Given the description of an element on the screen output the (x, y) to click on. 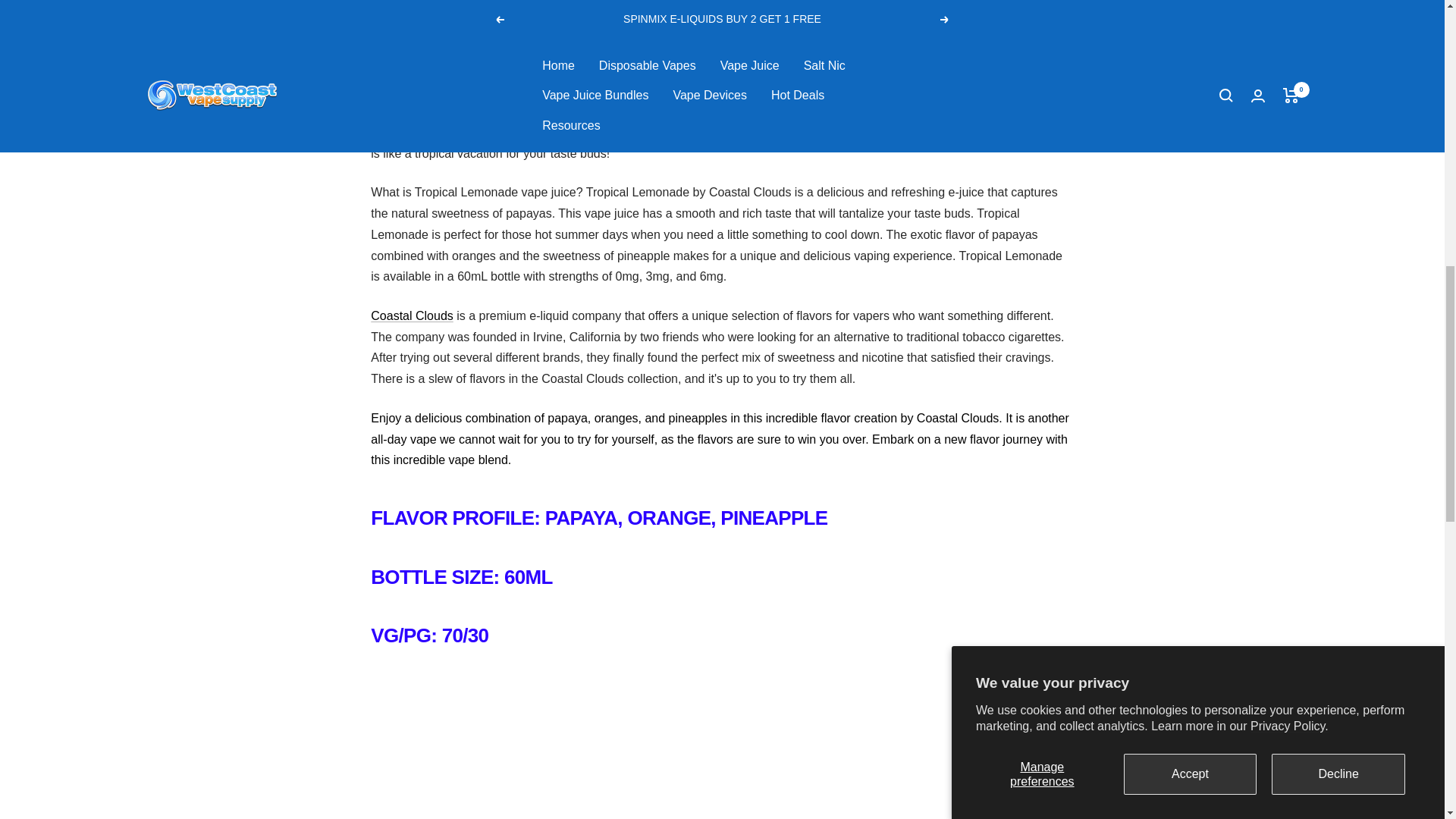
Coastal Clouds (411, 315)
